Given the description of an element on the screen output the (x, y) to click on. 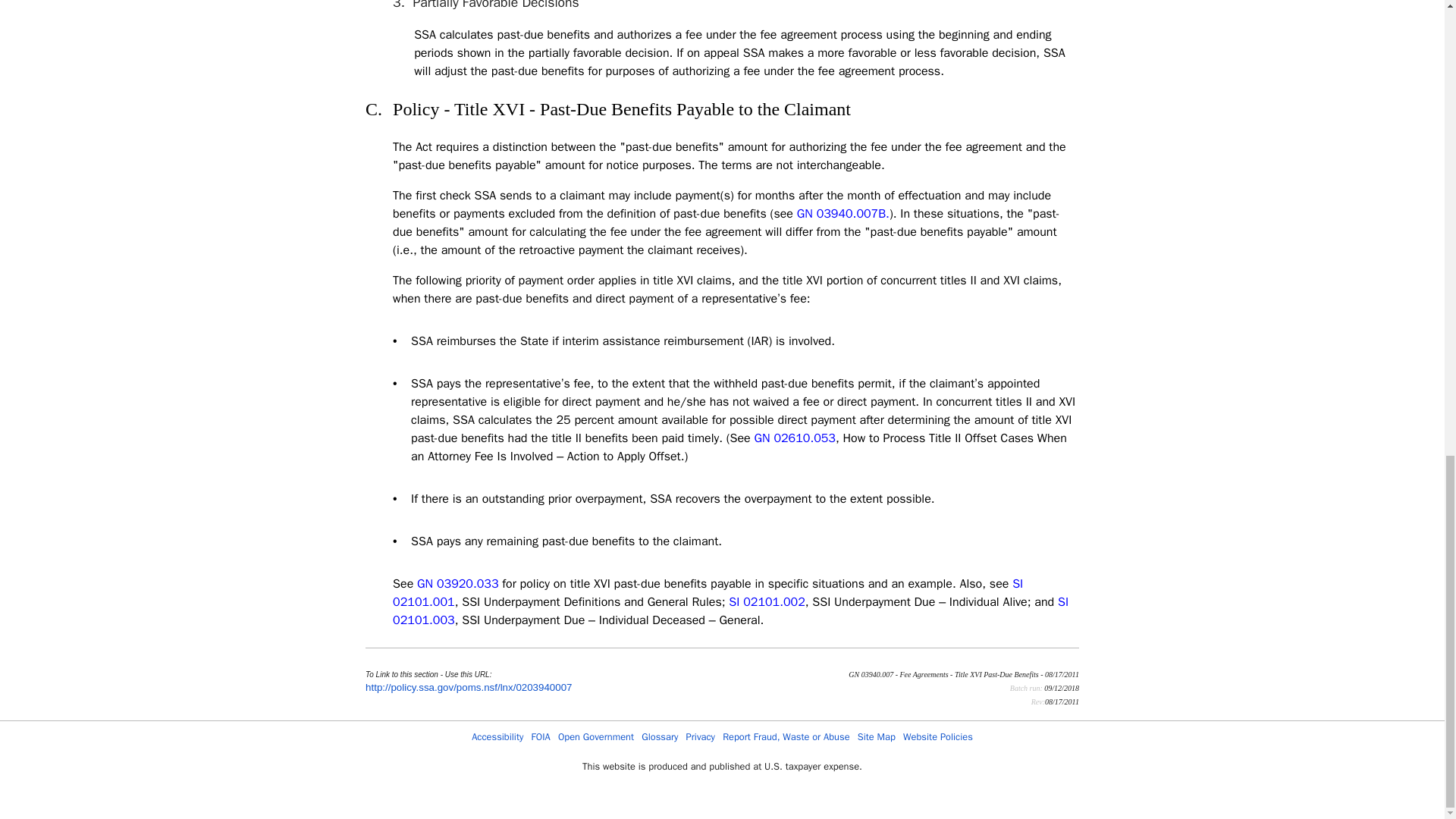
Site Map (876, 736)
GN 03920.033 (456, 583)
Accessibility (496, 736)
Report Fraud, Waste or Abuse (785, 736)
GN 02610.053 (794, 437)
Glossary (660, 736)
SI 02101.003 (730, 611)
SI 02101.002 (767, 601)
Open Government (595, 736)
GN 03940.007B. (842, 213)
SI 02101.001 (708, 592)
Website Policies (937, 736)
Privacy (699, 736)
FOIA (540, 736)
